Given the description of an element on the screen output the (x, y) to click on. 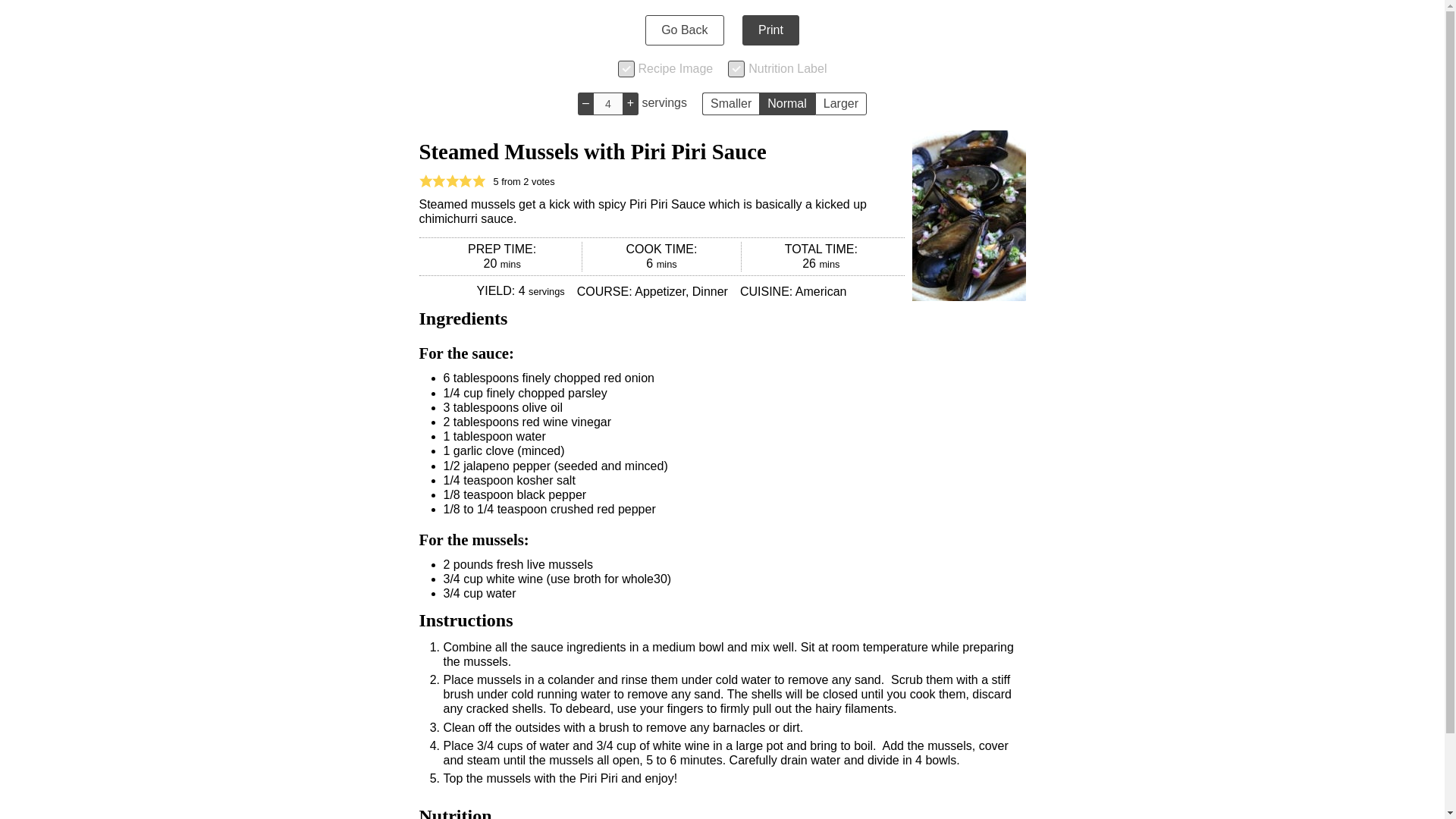
4 (607, 103)
Normal (786, 103)
Larger (840, 103)
Go Back (684, 30)
Smaller (729, 103)
Print (770, 30)
